Given the description of an element on the screen output the (x, y) to click on. 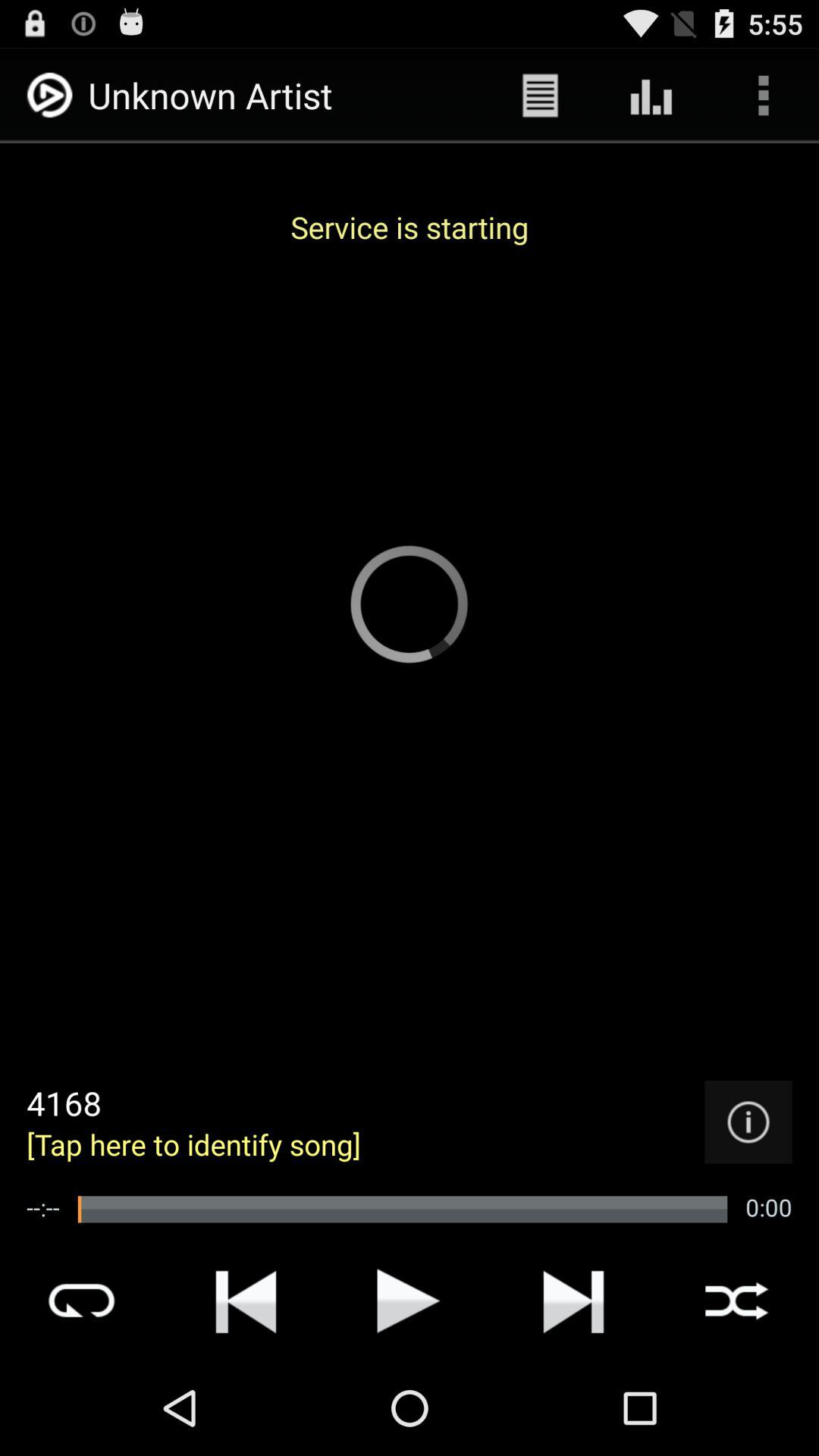
info option (748, 1121)
